Given the description of an element on the screen output the (x, y) to click on. 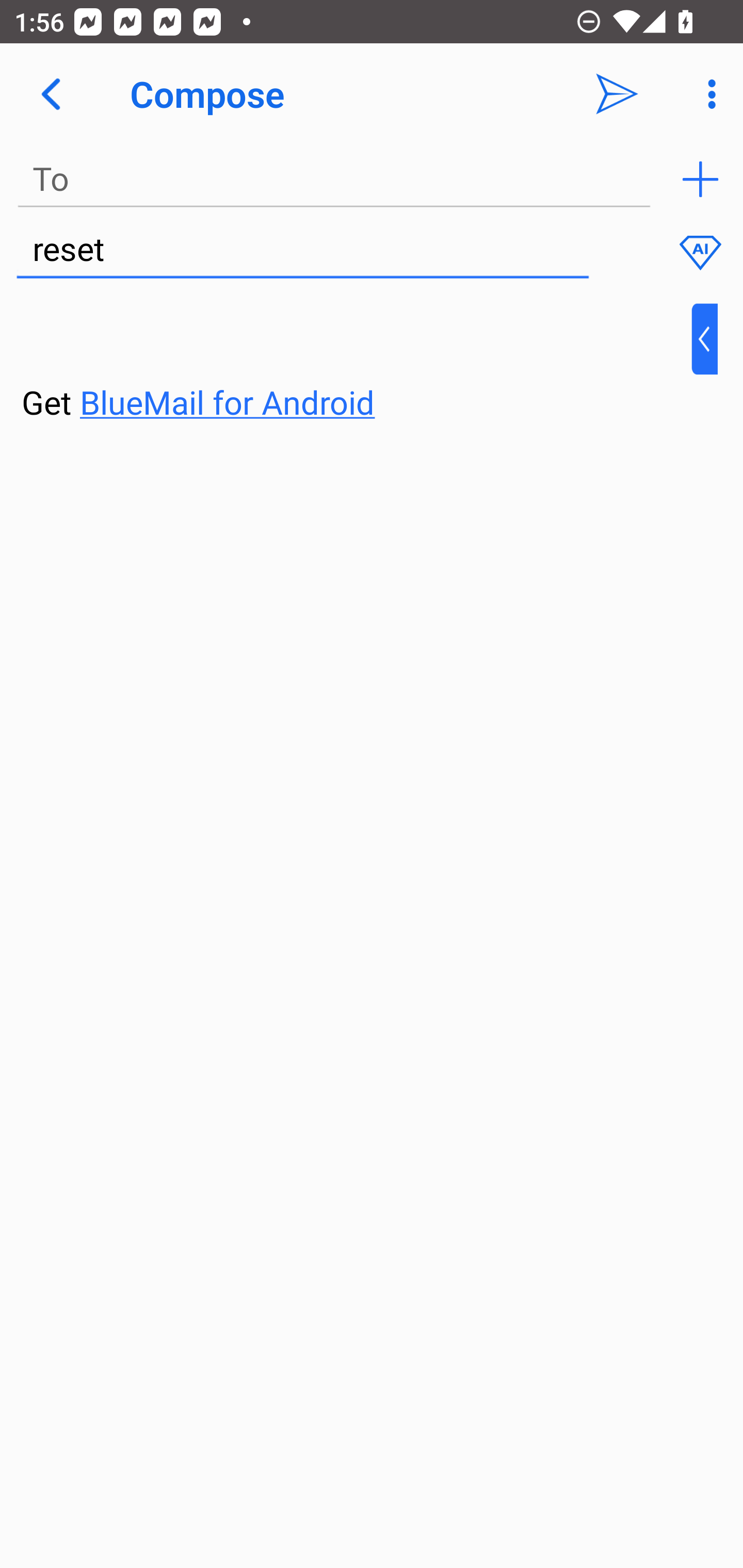
Navigate up (50, 93)
Send (616, 93)
More Options (706, 93)
To (334, 179)
Add recipient (To) (699, 179)
reset (302, 249)


⁣Get BlueMail for Android ​ (355, 363)
